Given the description of an element on the screen output the (x, y) to click on. 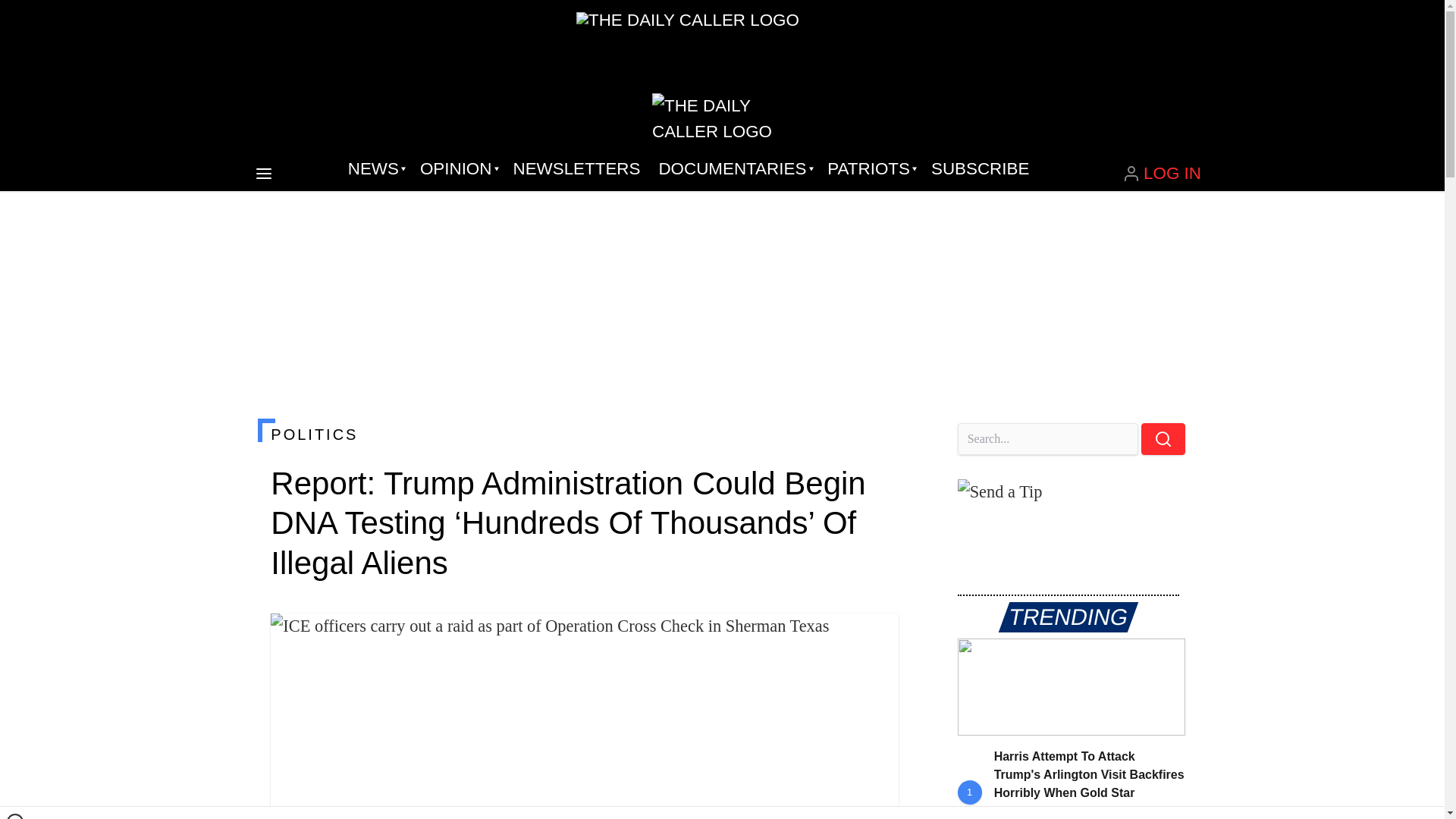
POLITICS (584, 434)
NEWSLETTERS (576, 168)
Toggle fullscreen (874, 636)
SUBSCRIBE (979, 168)
DOCUMENTARIES (733, 168)
PATRIOTS (869, 168)
Close window (14, 816)
NEWS (374, 168)
OPINION (456, 168)
